Given the description of an element on the screen output the (x, y) to click on. 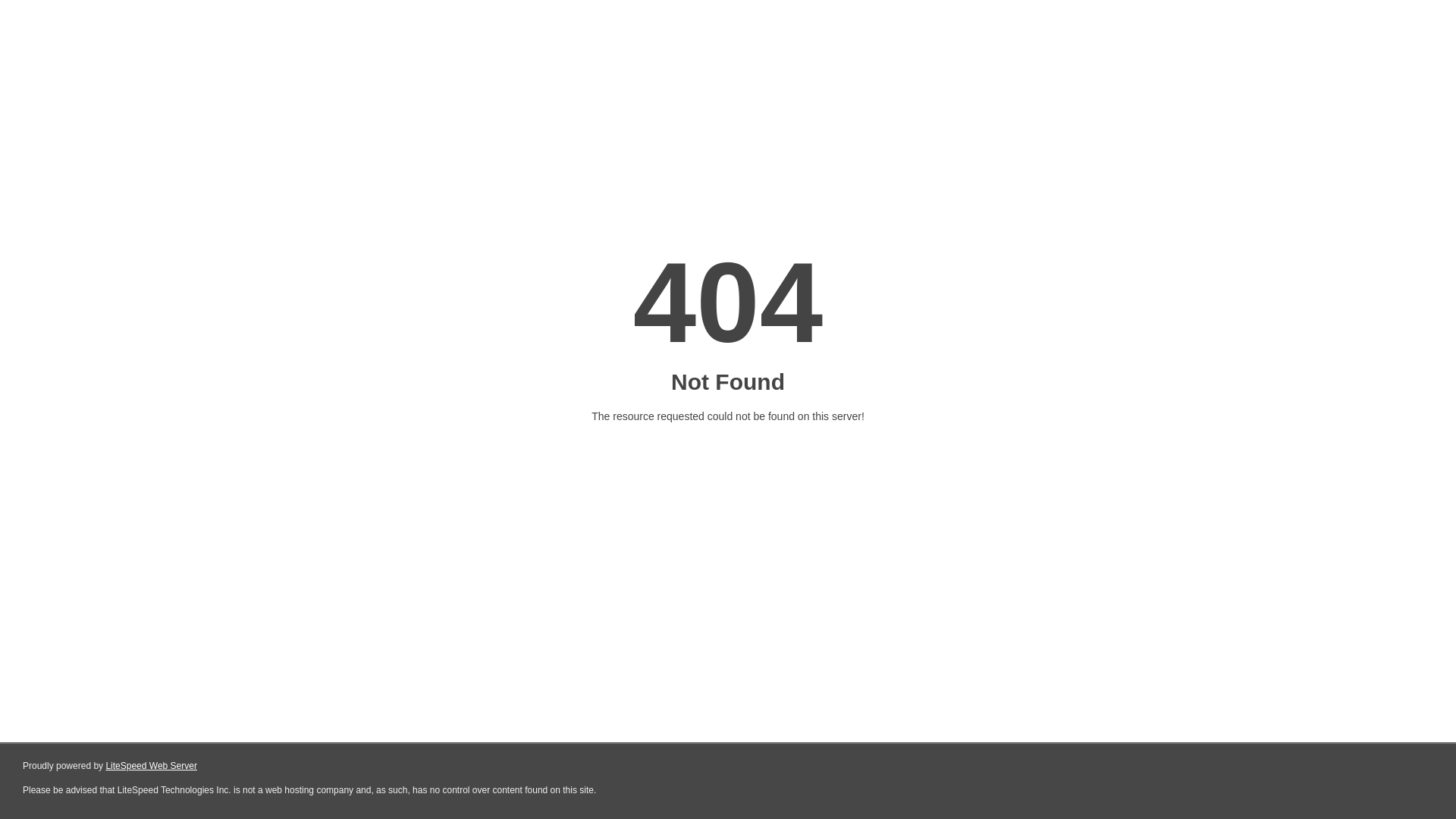
LiteSpeed Web Server Element type: text (151, 765)
